Given the description of an element on the screen output the (x, y) to click on. 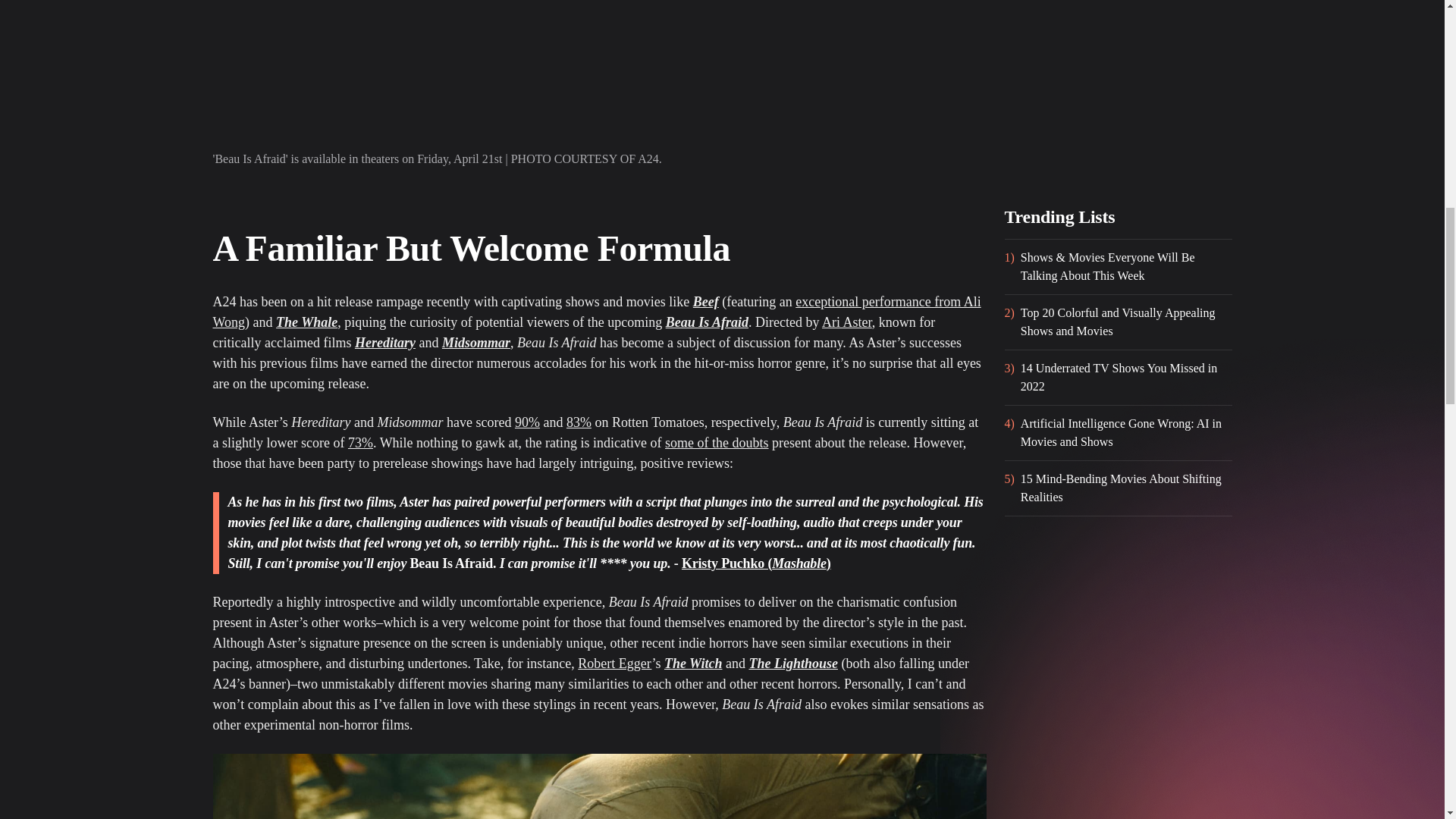
The Witch (692, 663)
The Lighthouse (793, 663)
Top 20 Colorful and Visually Appealing Shows and Movies (1125, 321)
Beef (706, 301)
15 Mind-Bending Movies About Shifting Realities (1125, 488)
Midsommar (476, 342)
Ari Aster (847, 322)
some of the doubts (716, 442)
Beau Is Afraid (706, 322)
Hereditary (384, 342)
